Given the description of an element on the screen output the (x, y) to click on. 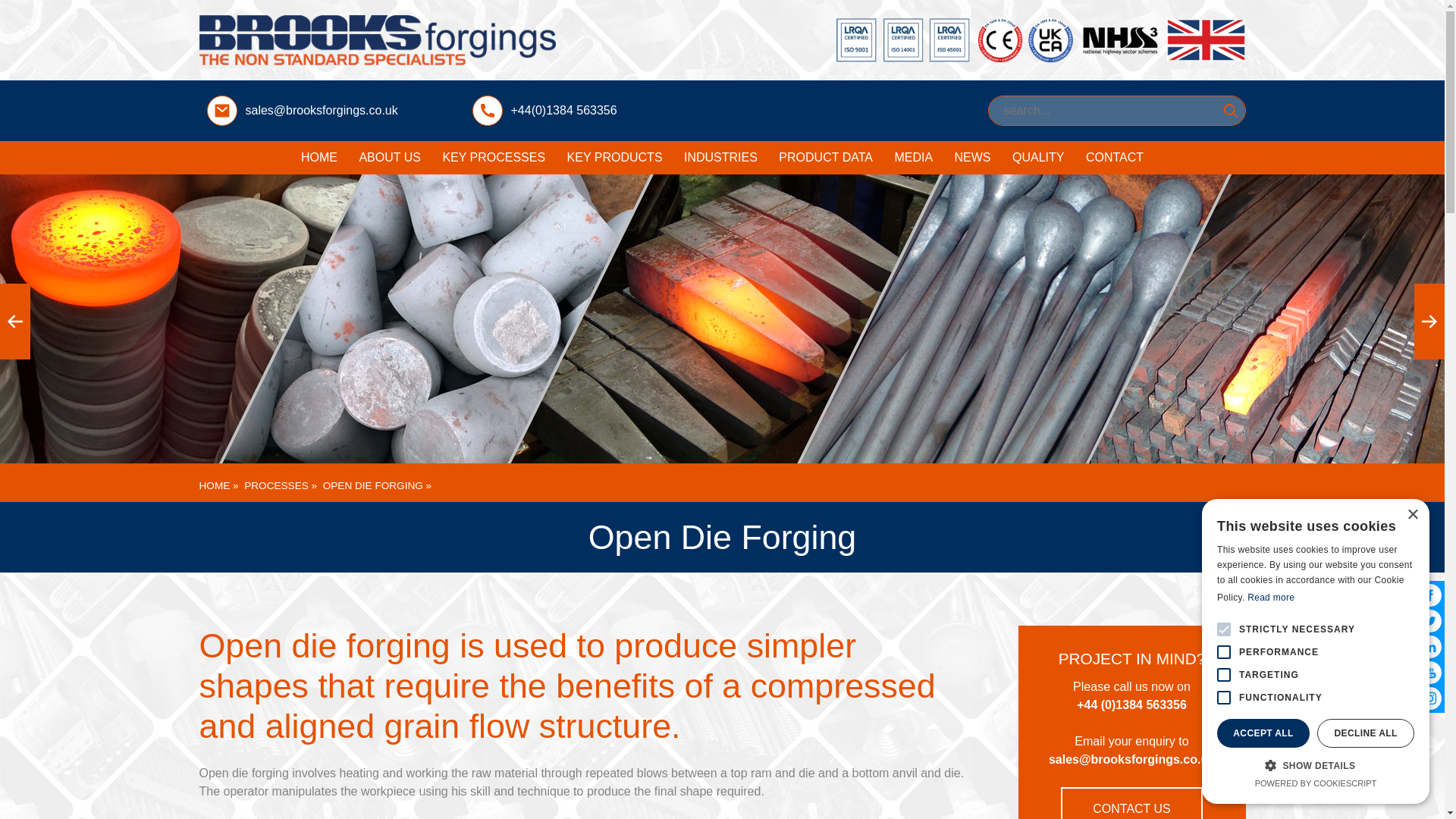
KEY PROCESSES (493, 157)
About Us (389, 157)
Home (319, 157)
Submit (1229, 110)
ABOUT US (389, 157)
HOME (319, 157)
tel (486, 110)
email (220, 110)
